Given the description of an element on the screen output the (x, y) to click on. 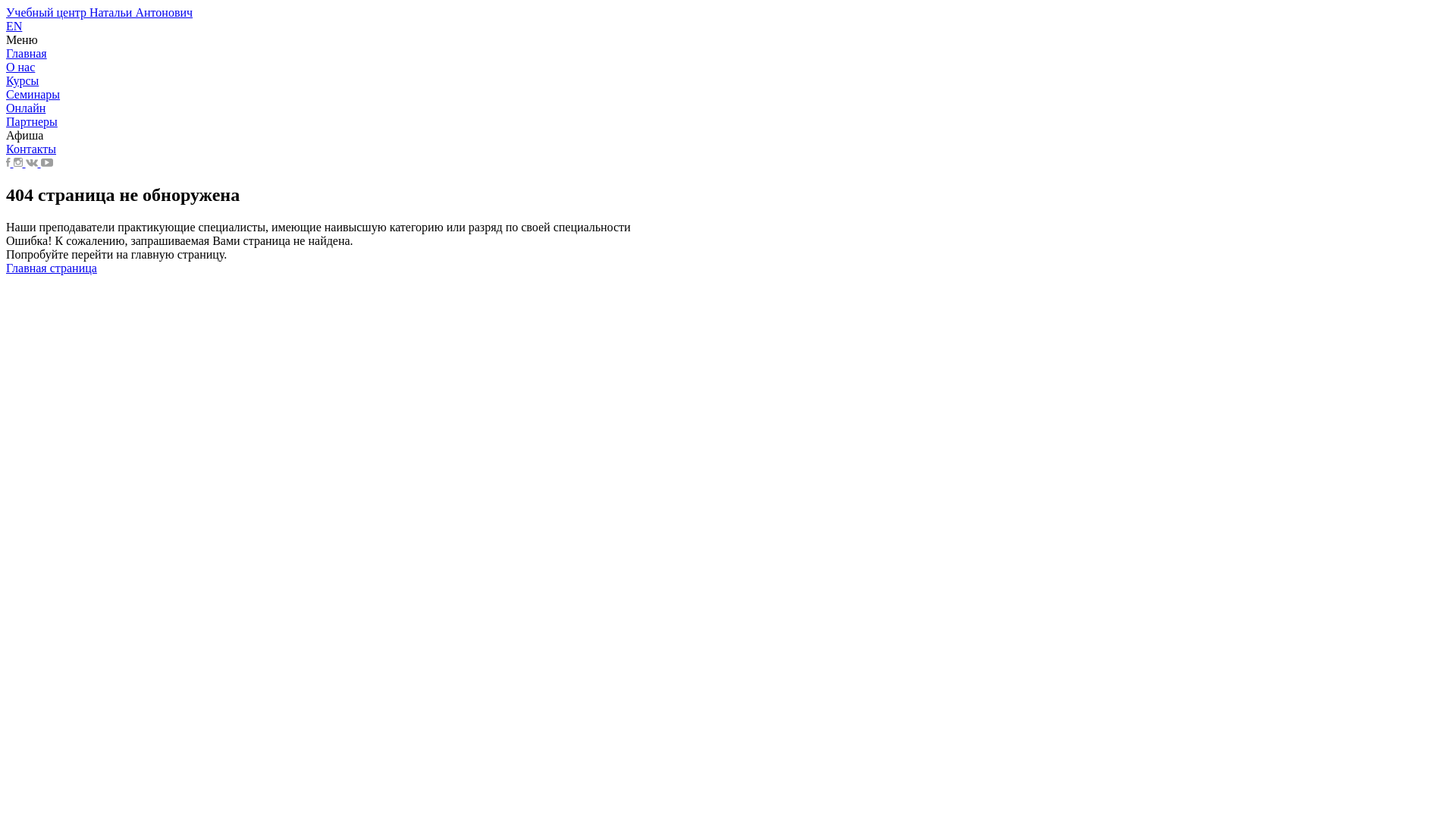
EN Element type: text (13, 25)
